Given the description of an element on the screen output the (x, y) to click on. 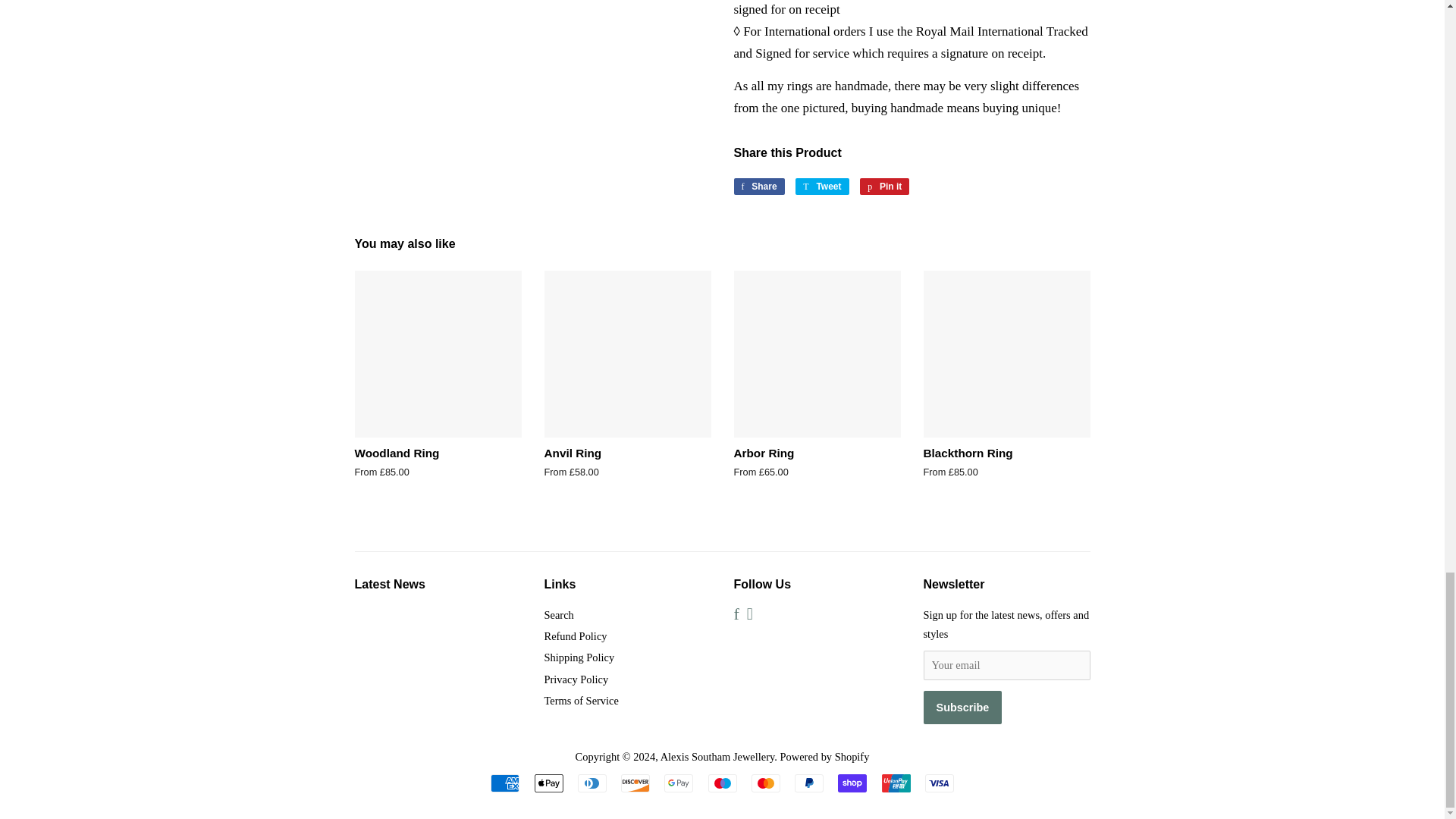
Discover (635, 782)
Google Pay (678, 782)
Union Pay (895, 782)
Tweet on Twitter (884, 186)
Diners Club (821, 186)
Mastercard (592, 782)
American Express (765, 782)
Pin on Pinterest (504, 782)
Maestro (884, 186)
